Given the description of an element on the screen output the (x, y) to click on. 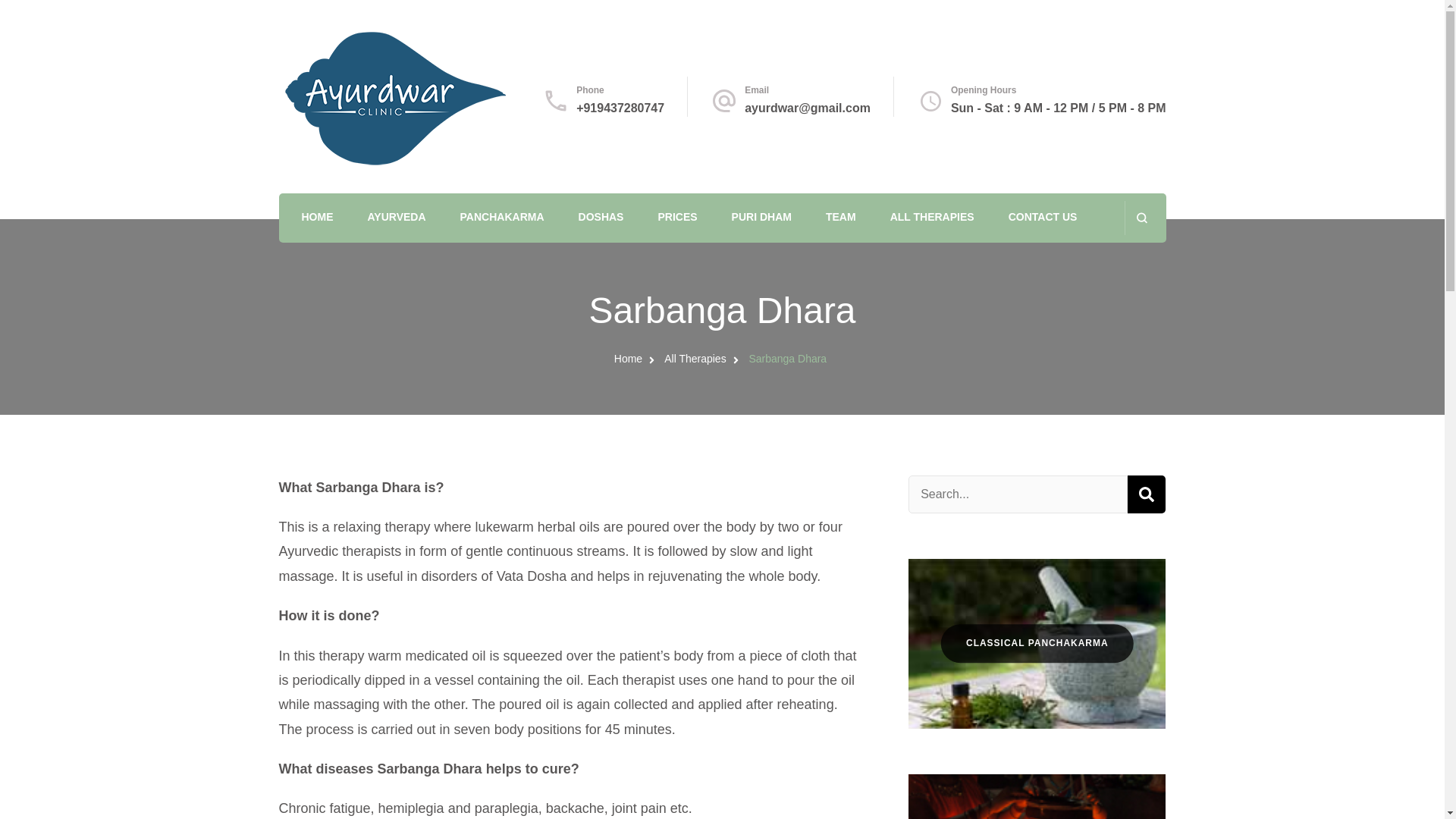
Search (1146, 494)
AYURVEDA (397, 218)
Home (628, 358)
DOSHAS (601, 218)
All Therapies (694, 358)
ALL THERAPIES (931, 218)
CONTACT US (1043, 218)
PURI DHAM (762, 218)
Ayurdwar (326, 44)
Search (1146, 494)
Search (1146, 494)
Sarbanga Dhara (787, 358)
PRICES (677, 218)
HOME (317, 218)
CLASSICAL PANCHAKARMA (1037, 643)
